Given the description of an element on the screen output the (x, y) to click on. 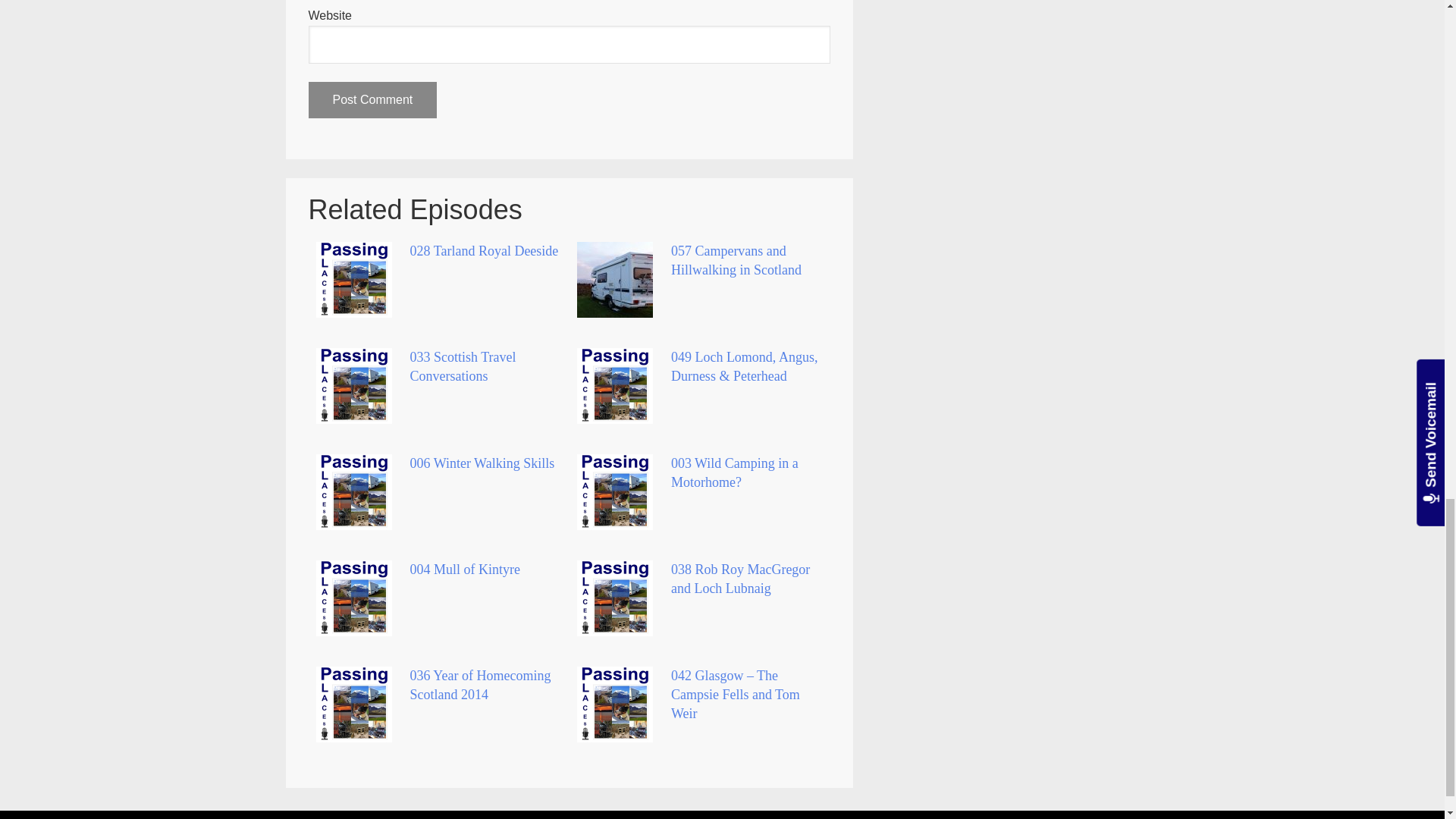
Permanent Link to038 Rob Roy MacGregor and Loch Lubnaig (740, 578)
Permanent Link to006 Winter Walking Skills (481, 462)
004 Mull of Kintyre (464, 569)
Permanent Link to004 Mull of Kintyre (464, 569)
Permanent Link to057 Campervans and Hillwalking in Scotland (736, 260)
033 Scottish Travel Conversations (462, 366)
Permanent Link to036 Year of Homecoming Scotland 2014 (479, 684)
038 Rob Roy MacGregor and Loch Lubnaig (740, 578)
Post Comment (371, 99)
Permanent Link to003 Wild Camping in a Motorhome? (734, 472)
